Given the description of an element on the screen output the (x, y) to click on. 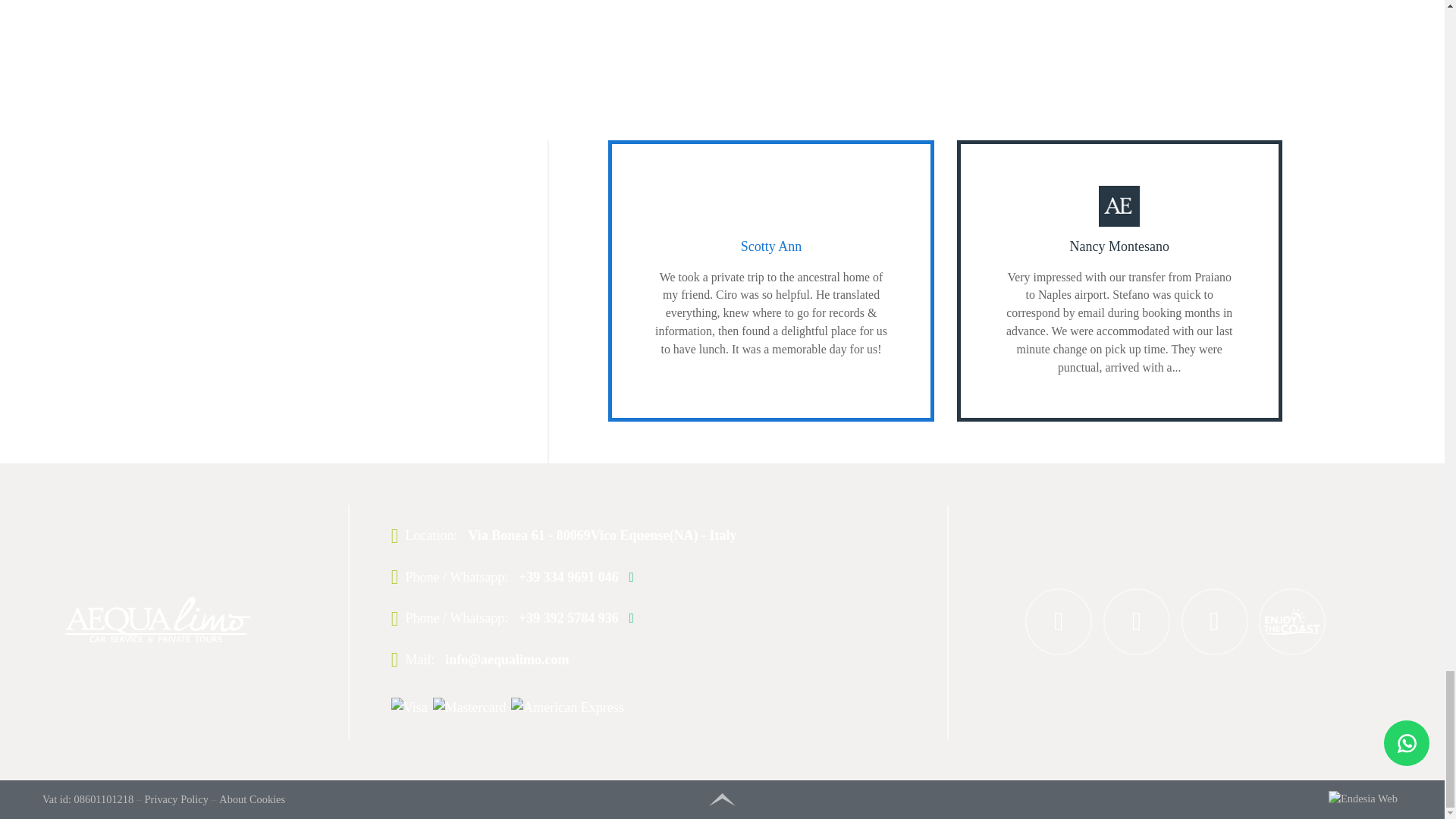
Signaled on Enjoy the Coast (1291, 622)
Endesia Web agency a Napoli e Sorrento (1068, 799)
